Given the description of an element on the screen output the (x, y) to click on. 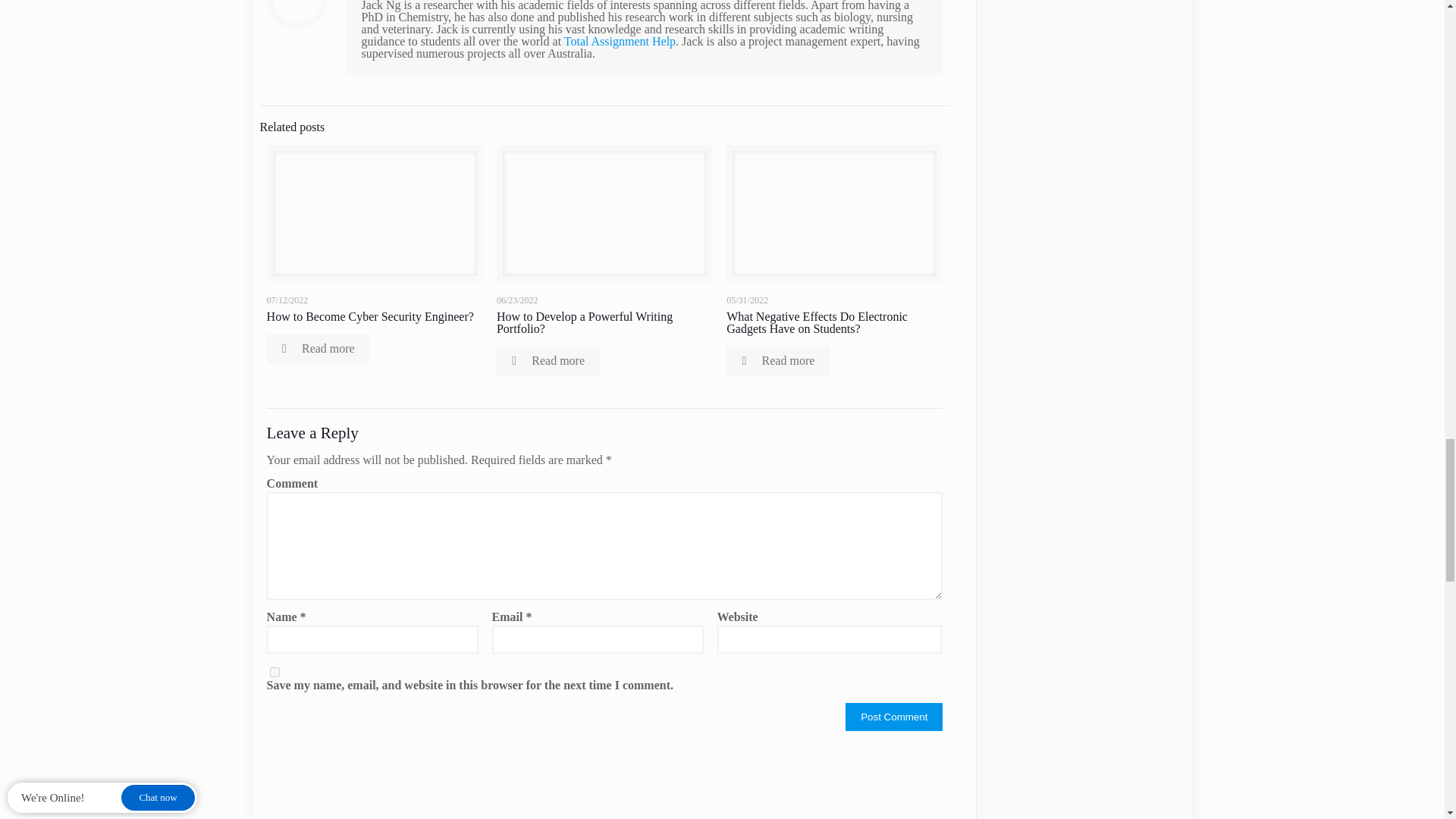
Read more (317, 348)
Read more (777, 360)
Post Comment (893, 716)
Post Comment (893, 716)
Read more (547, 360)
How to Develop a Powerful Writing Portfolio? (584, 322)
Total Assignment Help (619, 41)
How to Become Cyber Security Engineer? (370, 316)
yes (274, 672)
